Given the description of an element on the screen output the (x, y) to click on. 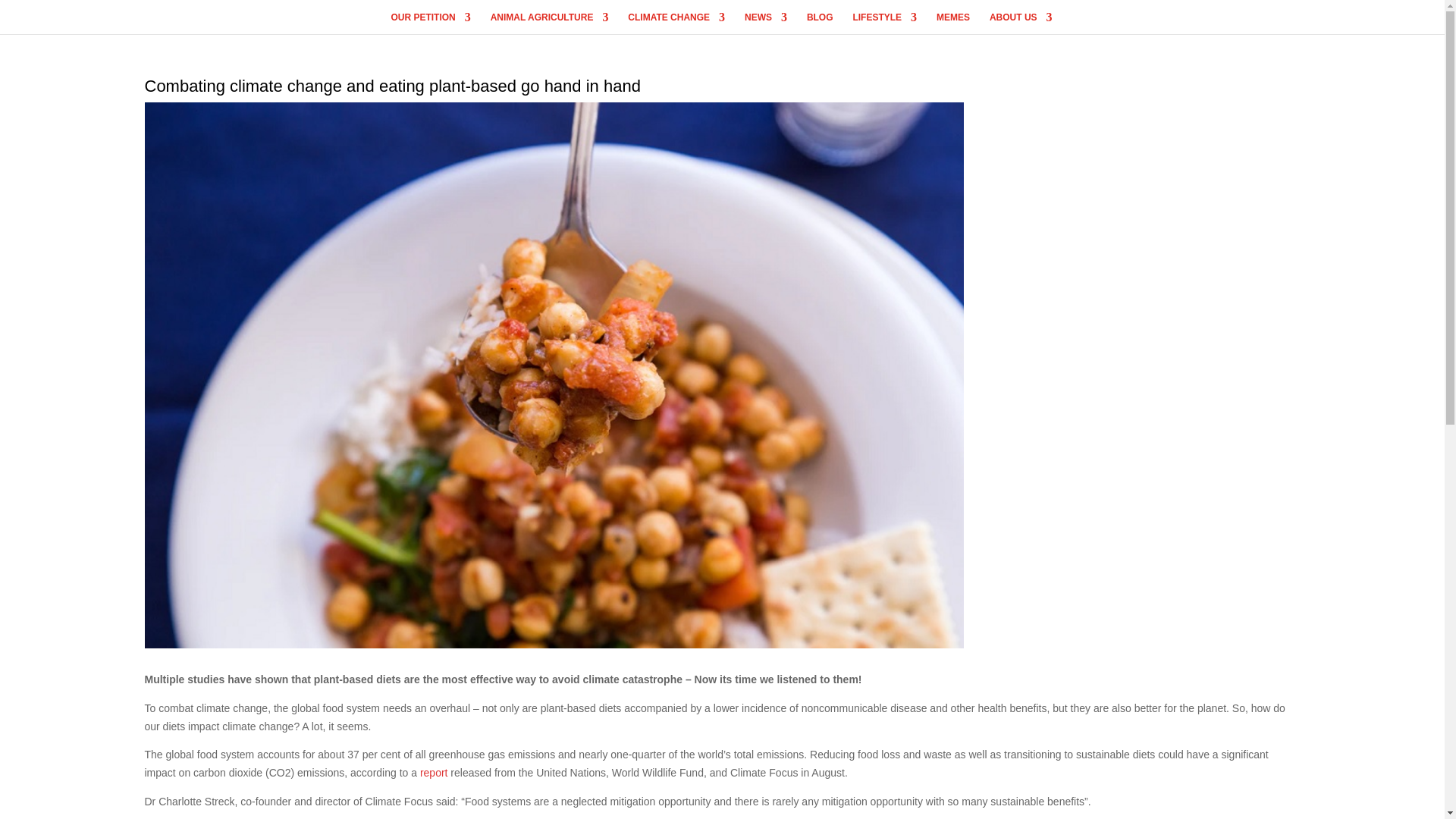
BLOG (819, 23)
OUR PETITION (430, 23)
ANIMAL AGRICULTURE (549, 23)
MEMES (952, 23)
CLIMATE CHANGE (676, 23)
ABOUT US (1021, 23)
LIFESTYLE (884, 23)
report (434, 772)
NEWS (765, 23)
